Given the description of an element on the screen output the (x, y) to click on. 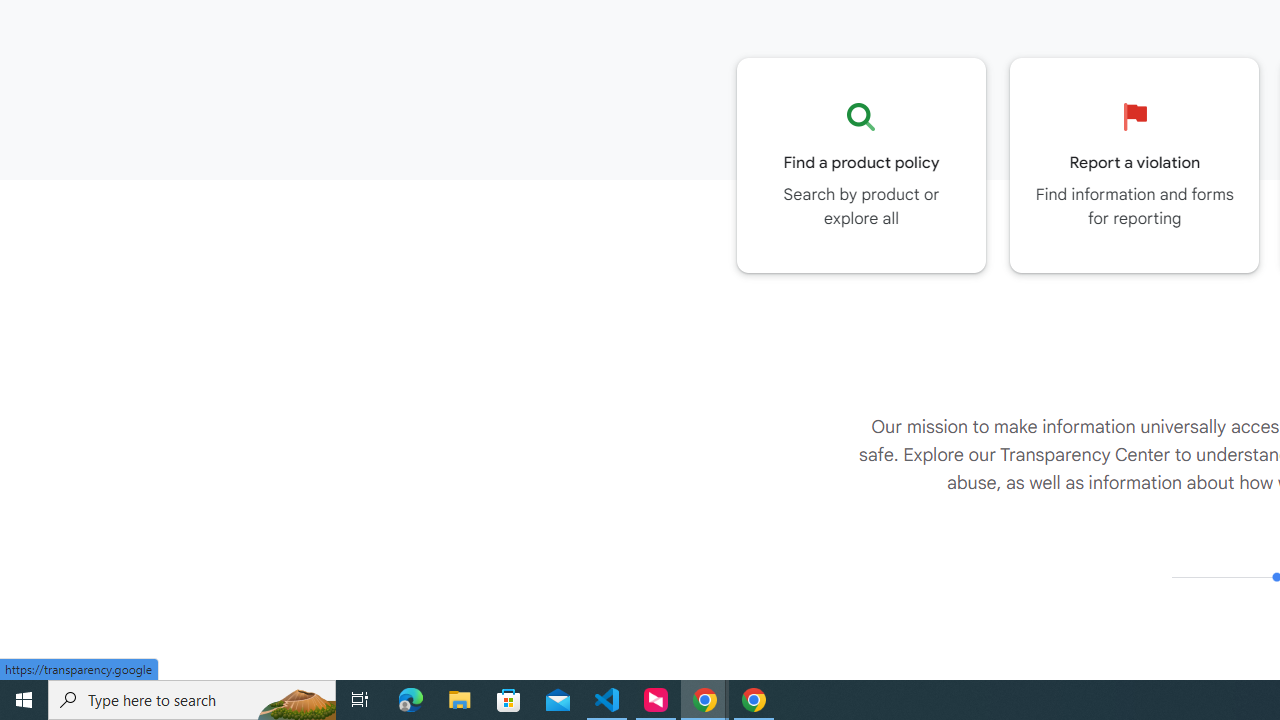
Go to the Reporting and appeals page (1134, 165)
Go to the Product policy page (861, 165)
